Given the description of an element on the screen output the (x, y) to click on. 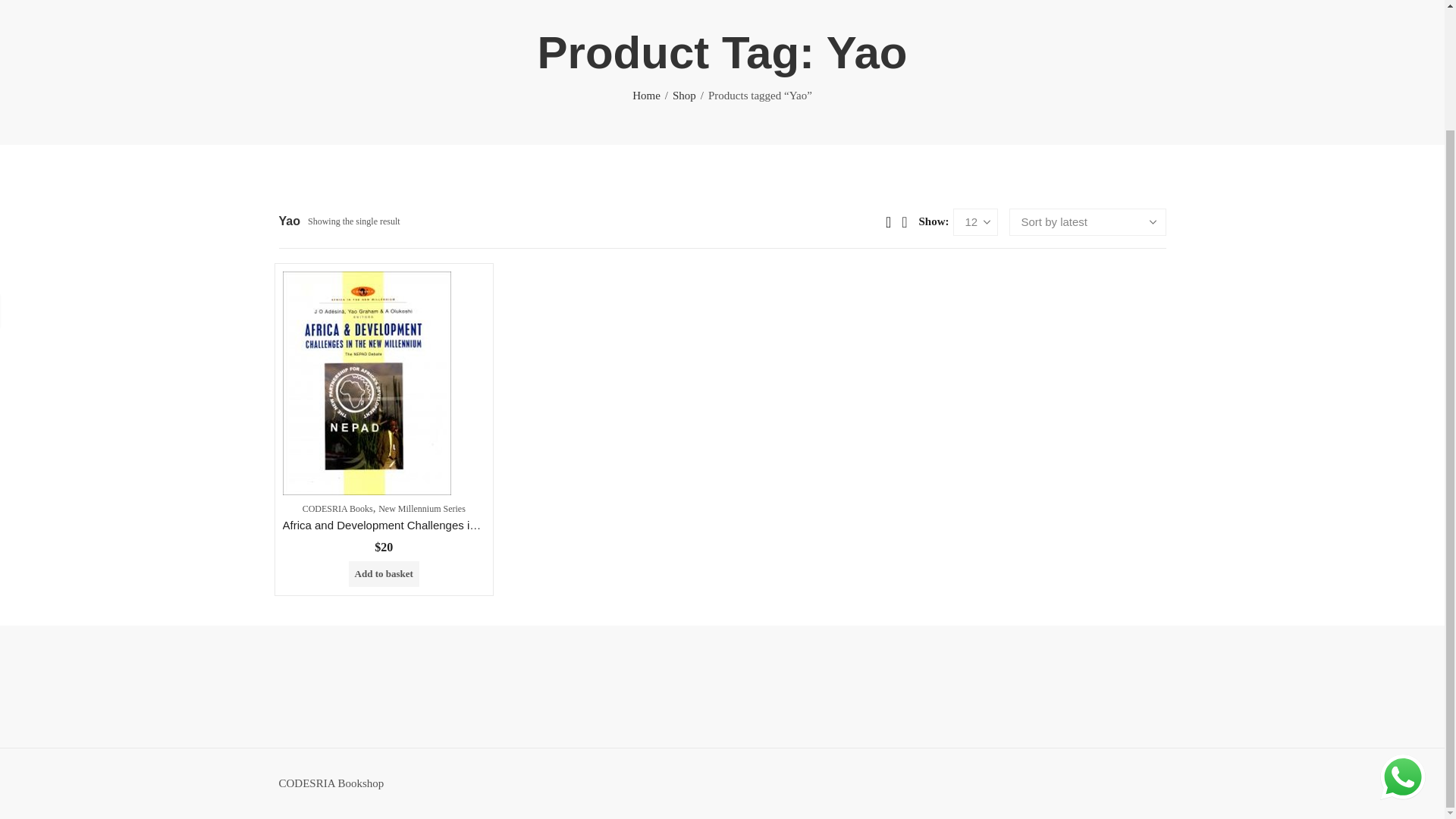
Home (646, 96)
Shop (683, 96)
CODESRIA Books (337, 508)
New Millennium Series (421, 508)
Add to basket (384, 574)
